Given the description of an element on the screen output the (x, y) to click on. 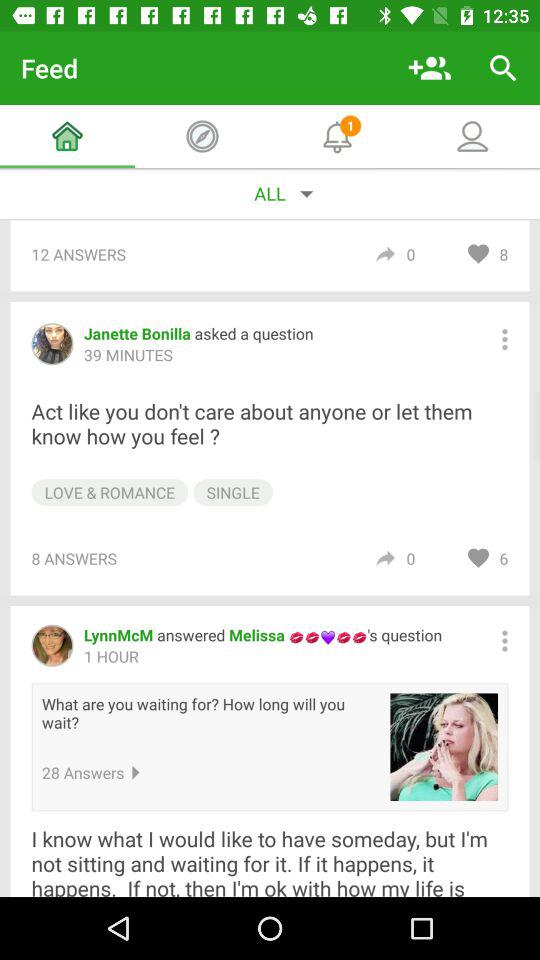
options (504, 339)
